Given the description of an element on the screen output the (x, y) to click on. 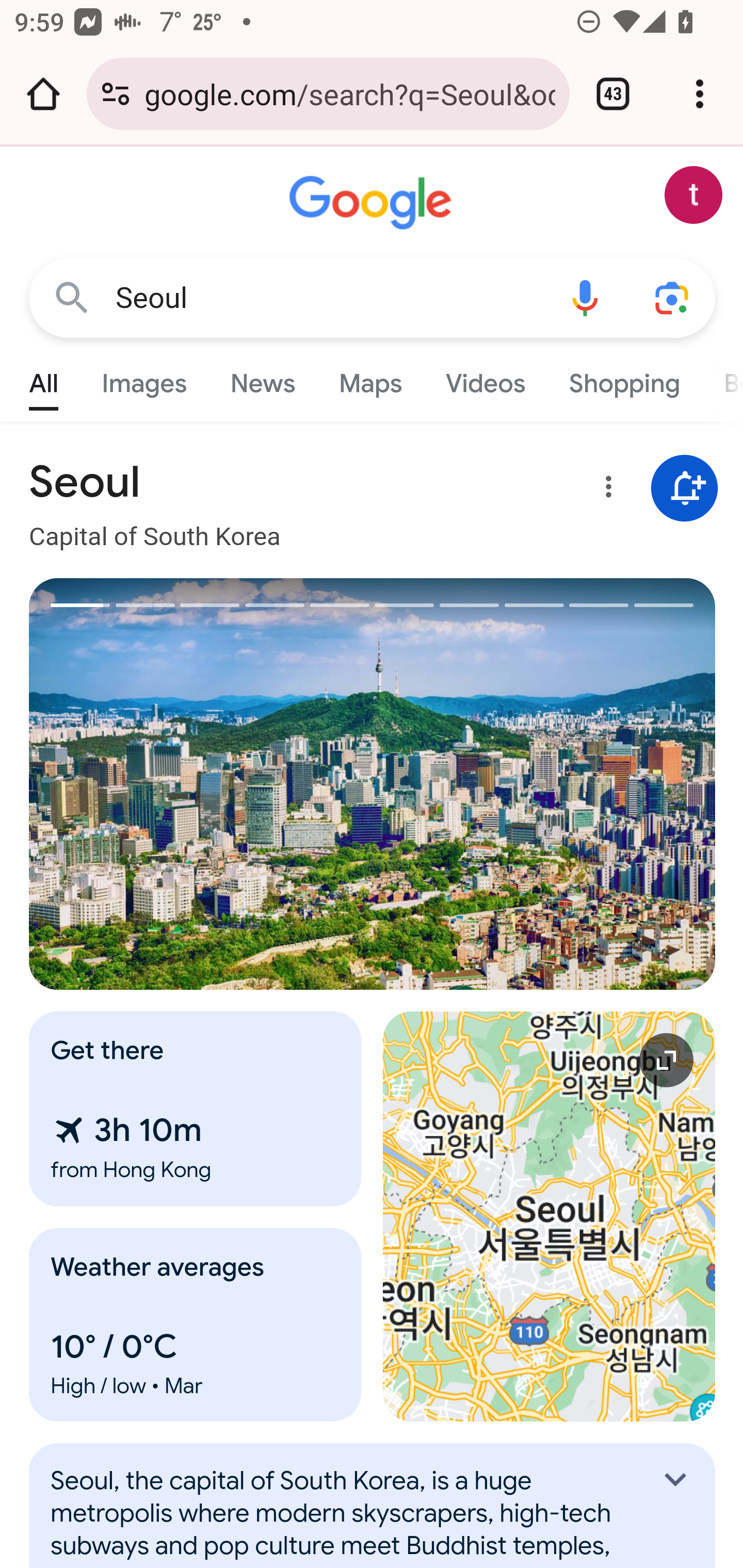
Open the home page (43, 93)
Connection is secure (115, 93)
Switch or close tabs (612, 93)
Customize and control Google Chrome (699, 93)
Google (372, 203)
Google Search (71, 296)
Search using your camera or photos (672, 296)
Seoul (328, 297)
Images (144, 378)
News (262, 378)
Maps (369, 378)
Videos (485, 378)
Shopping (623, 378)
Get notifications about Seoul (684, 489)
More options (605, 489)
Previous image (200, 783)
Next image (544, 783)
Expand map (549, 1216)
Weather averages 10° / 0°C High / low • Mar (195, 1324)
